Given the description of an element on the screen output the (x, y) to click on. 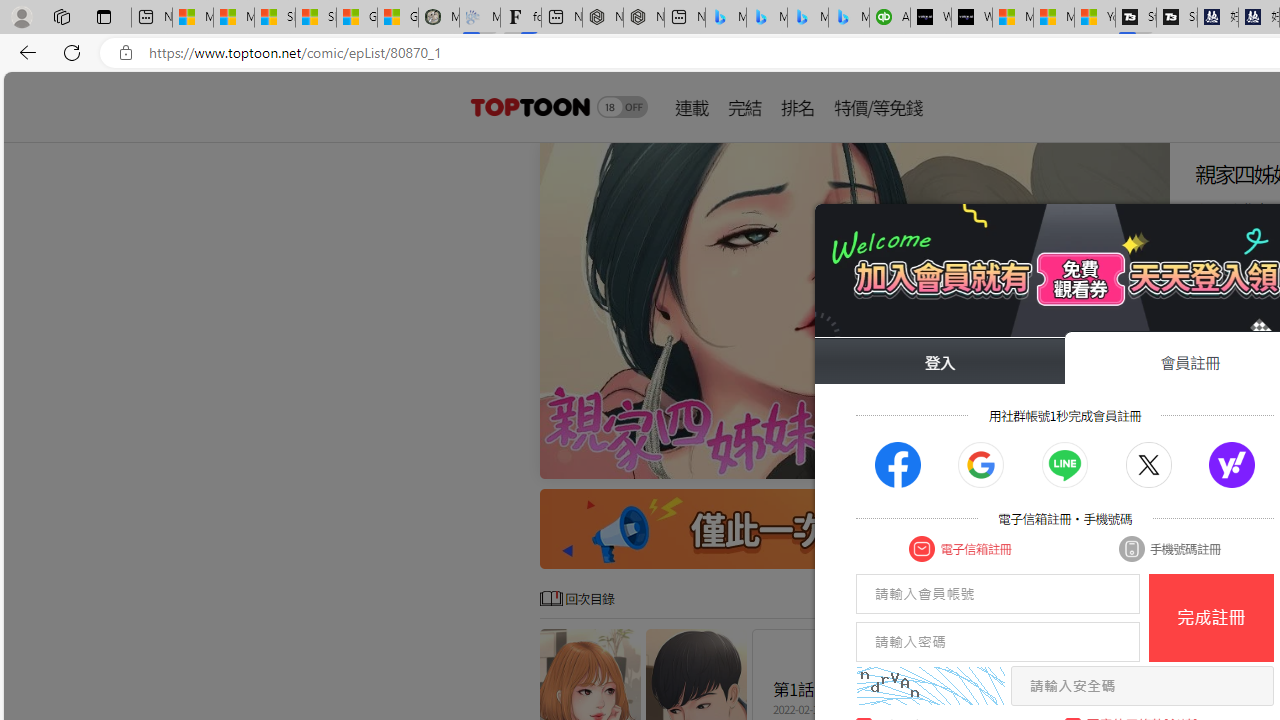
header (527, 106)
Shanghai, China weather forecast | Microsoft Weather (315, 17)
Class: socialBtn actionSocialJoinBtn (1232, 465)
captcha (930, 686)
Manatee Mortality Statistics | FWC (438, 17)
